Given the description of an element on the screen output the (x, y) to click on. 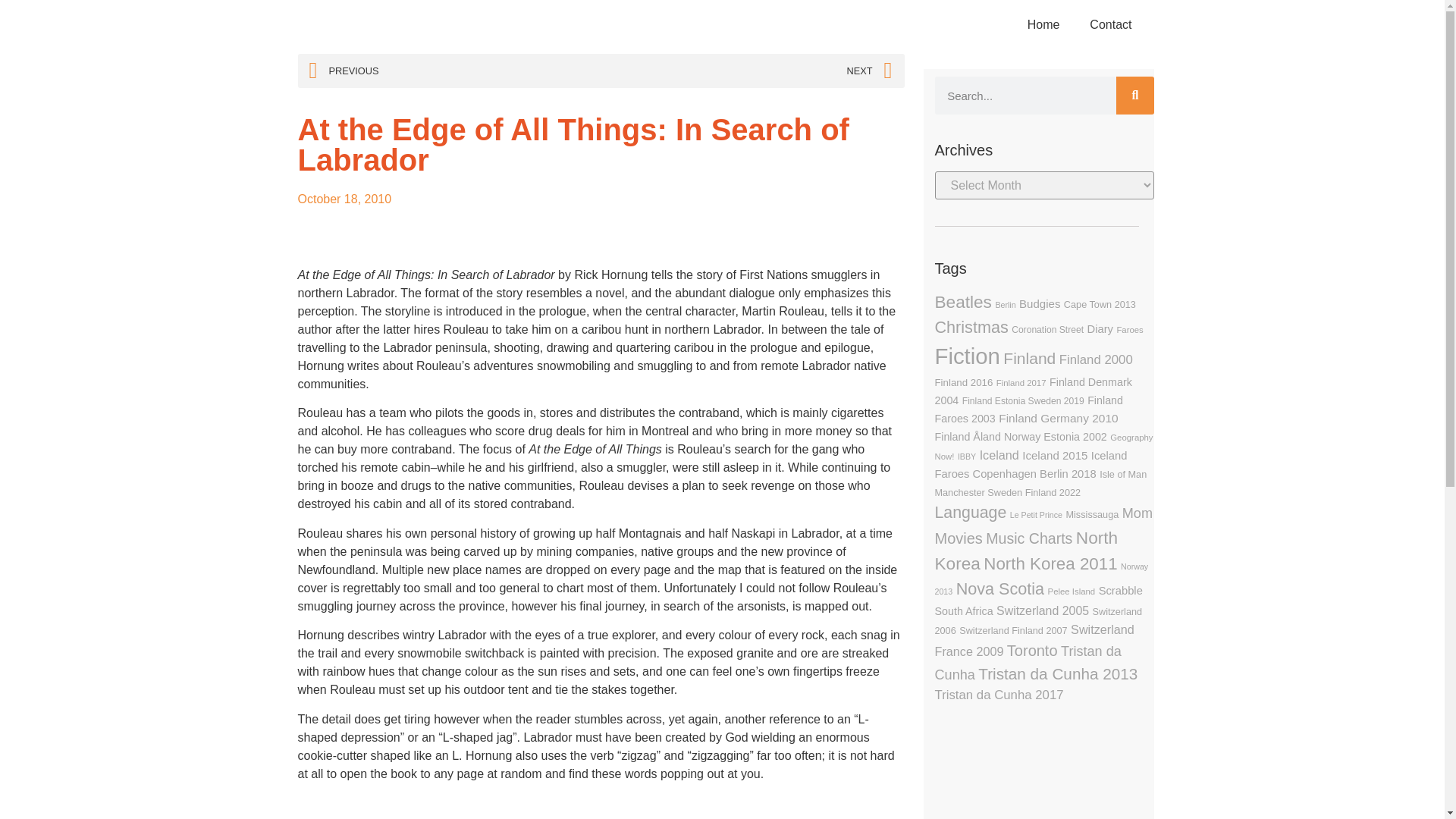
Language (970, 512)
Finland Faroes 2003 (1028, 409)
Home (1043, 24)
Finland 2016 (963, 382)
October 18, 2010 (344, 199)
NEXT (745, 70)
Mom (1137, 513)
Faroes (1129, 329)
Isle of Man Manchester Sweden Finland 2022 (1040, 483)
Iceland Faroes Copenhagen Berlin 2018 (1030, 464)
